Given the description of an element on the screen output the (x, y) to click on. 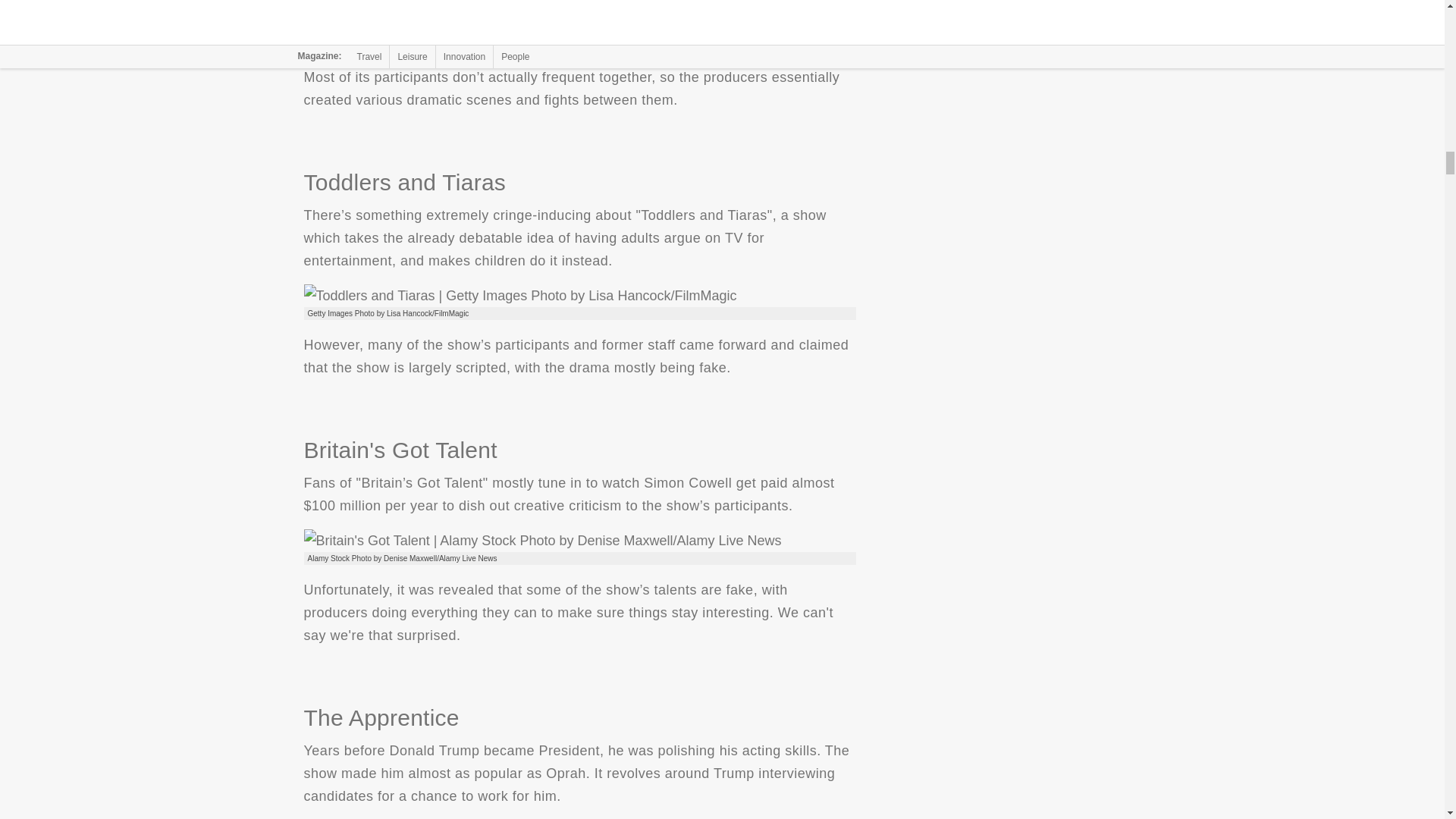
Mob Wives (500, 27)
Britain's Got Talent (541, 540)
Toddlers and Tiaras (519, 295)
